Given the description of an element on the screen output the (x, y) to click on. 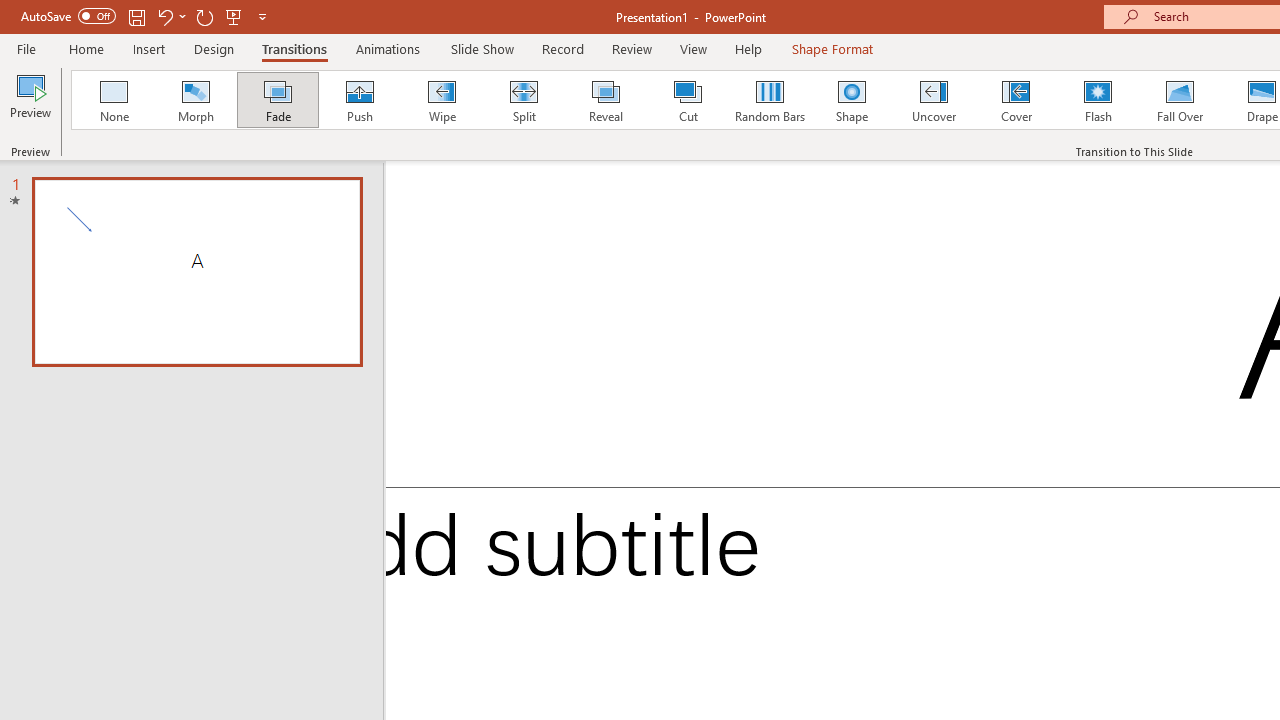
Push (359, 100)
Wipe (441, 100)
Fall Over (1180, 100)
Fade (277, 100)
